Given the description of an element on the screen output the (x, y) to click on. 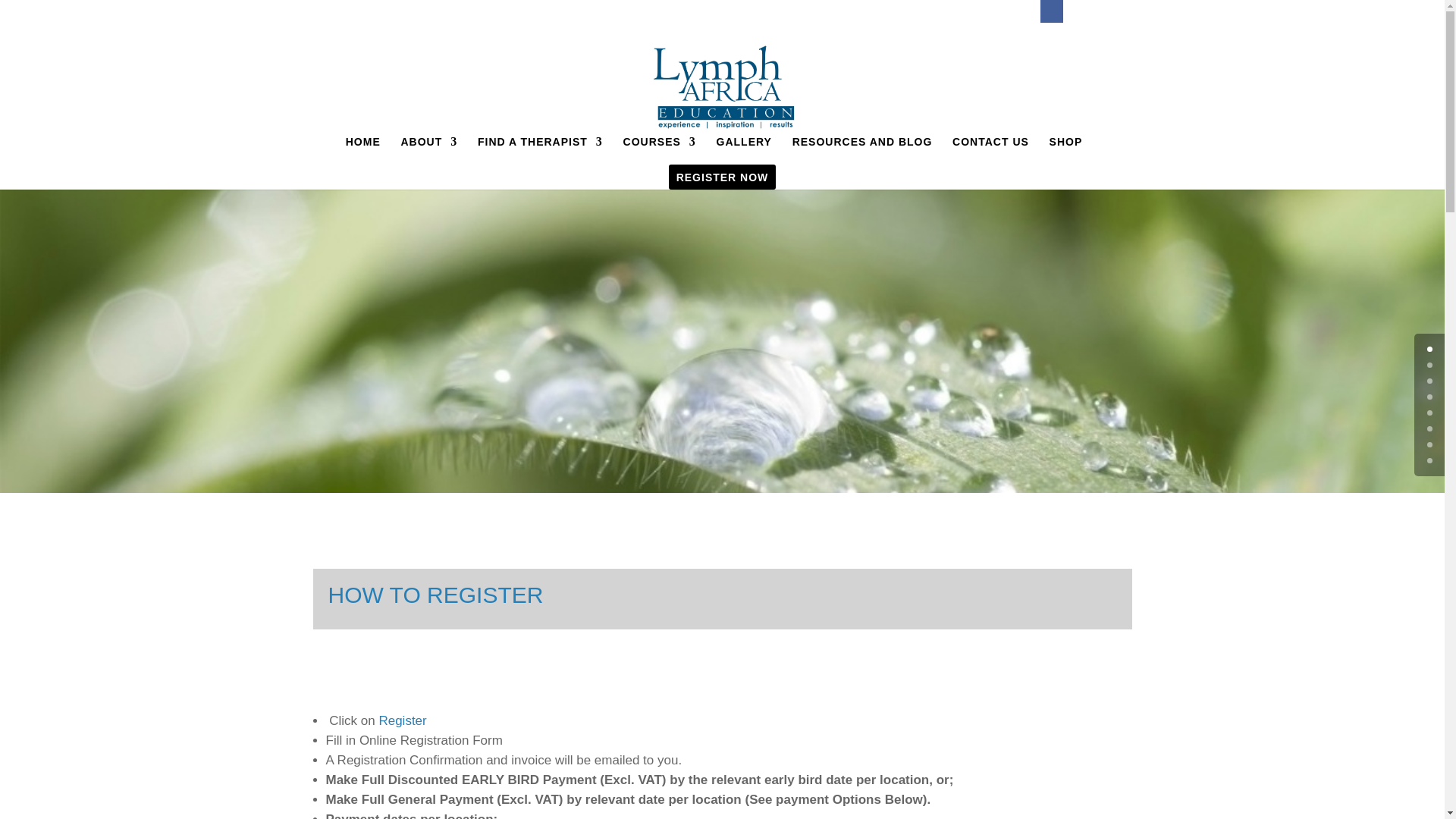
FIND A THERAPIST (539, 150)
REGISTER NOW (722, 185)
0 Items (1102, 18)
SHOP (1066, 150)
CONTACT US (990, 150)
GALLERY (743, 150)
HOME (363, 150)
COURSES (659, 150)
RESOURCES AND BLOG (862, 150)
ABOUT (428, 150)
